Given the description of an element on the screen output the (x, y) to click on. 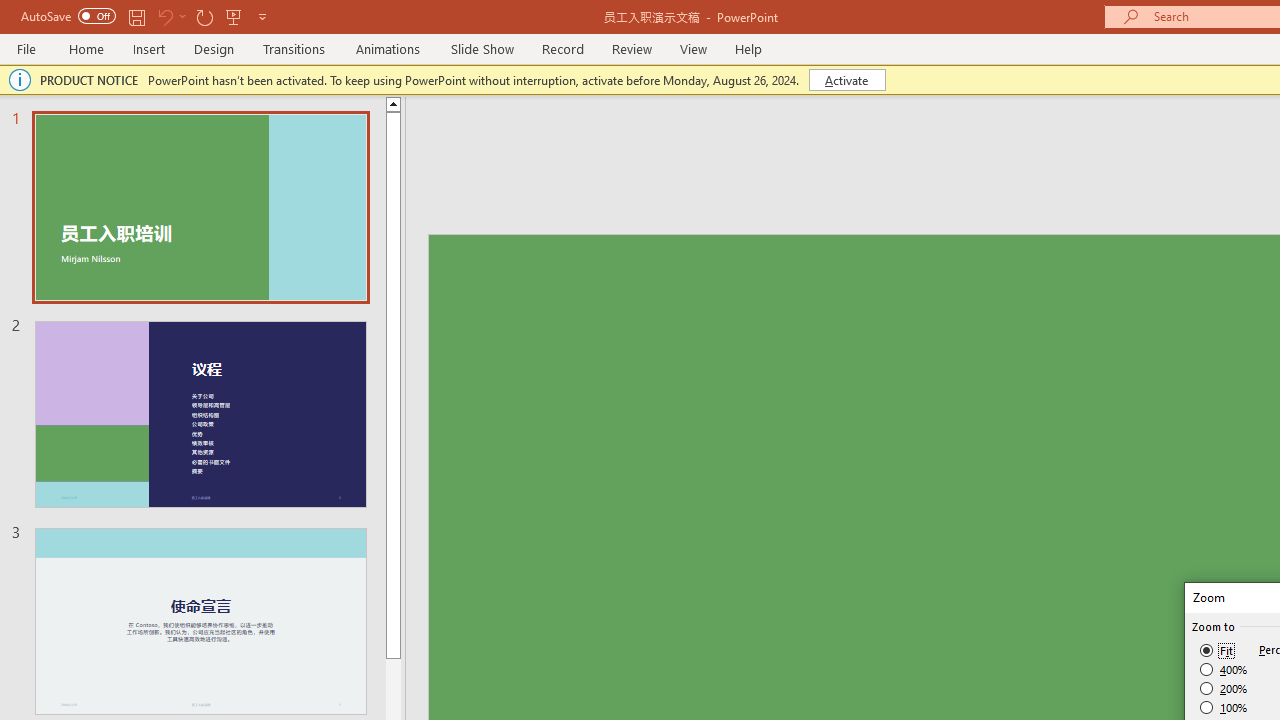
Save (136, 15)
Record (562, 48)
Undo (170, 15)
Slide Show (481, 48)
Help (748, 48)
400% (1224, 669)
From Beginning (234, 15)
View (693, 48)
Animations (388, 48)
Undo (164, 15)
200% (1224, 688)
Insert (149, 48)
Home (86, 48)
